Given the description of an element on the screen output the (x, y) to click on. 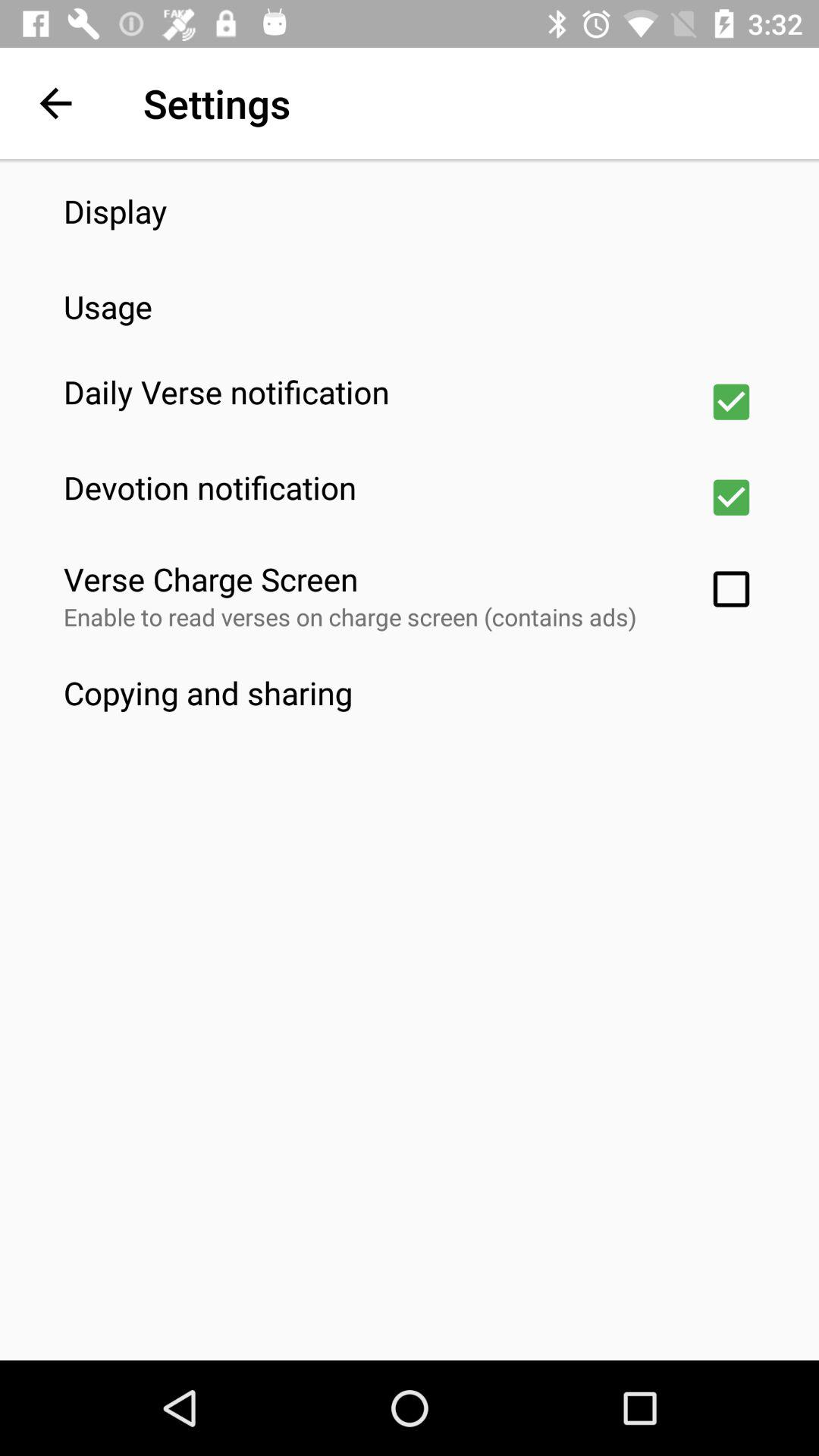
open the item to the left of settings app (55, 103)
